Given the description of an element on the screen output the (x, y) to click on. 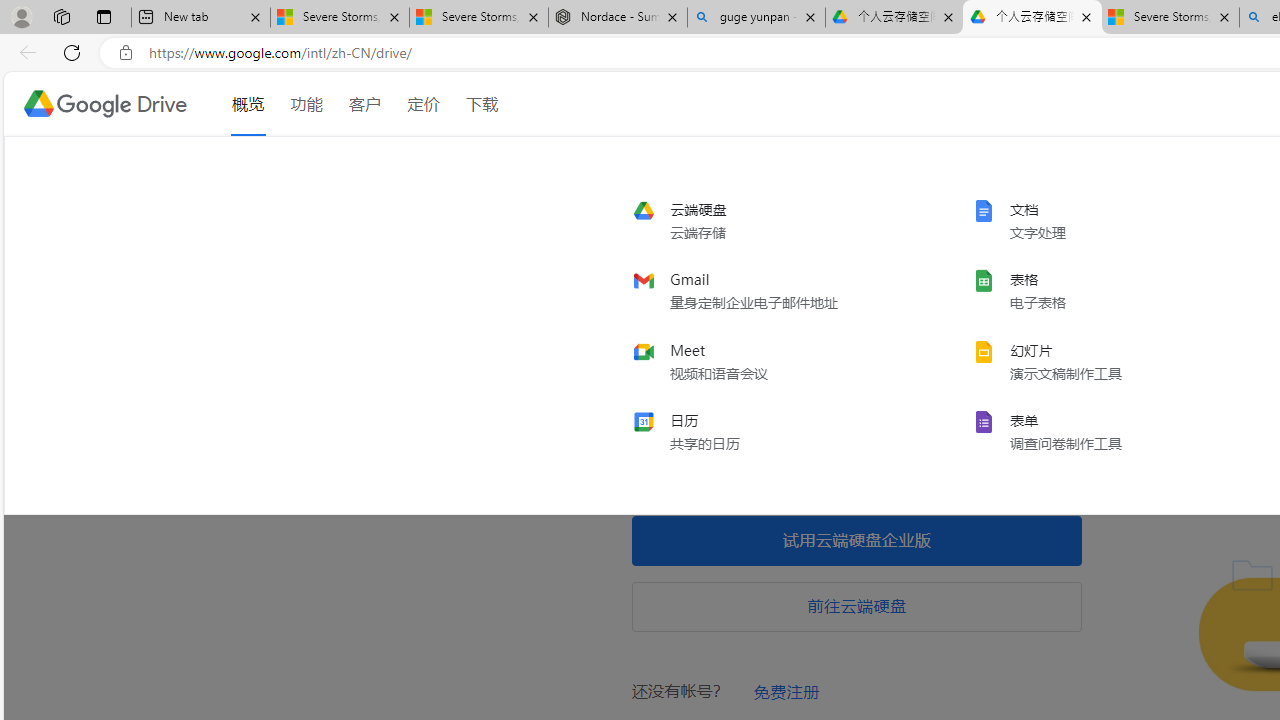
forms (1105, 431)
sheets (1105, 291)
docs (1105, 221)
